Given the description of an element on the screen output the (x, y) to click on. 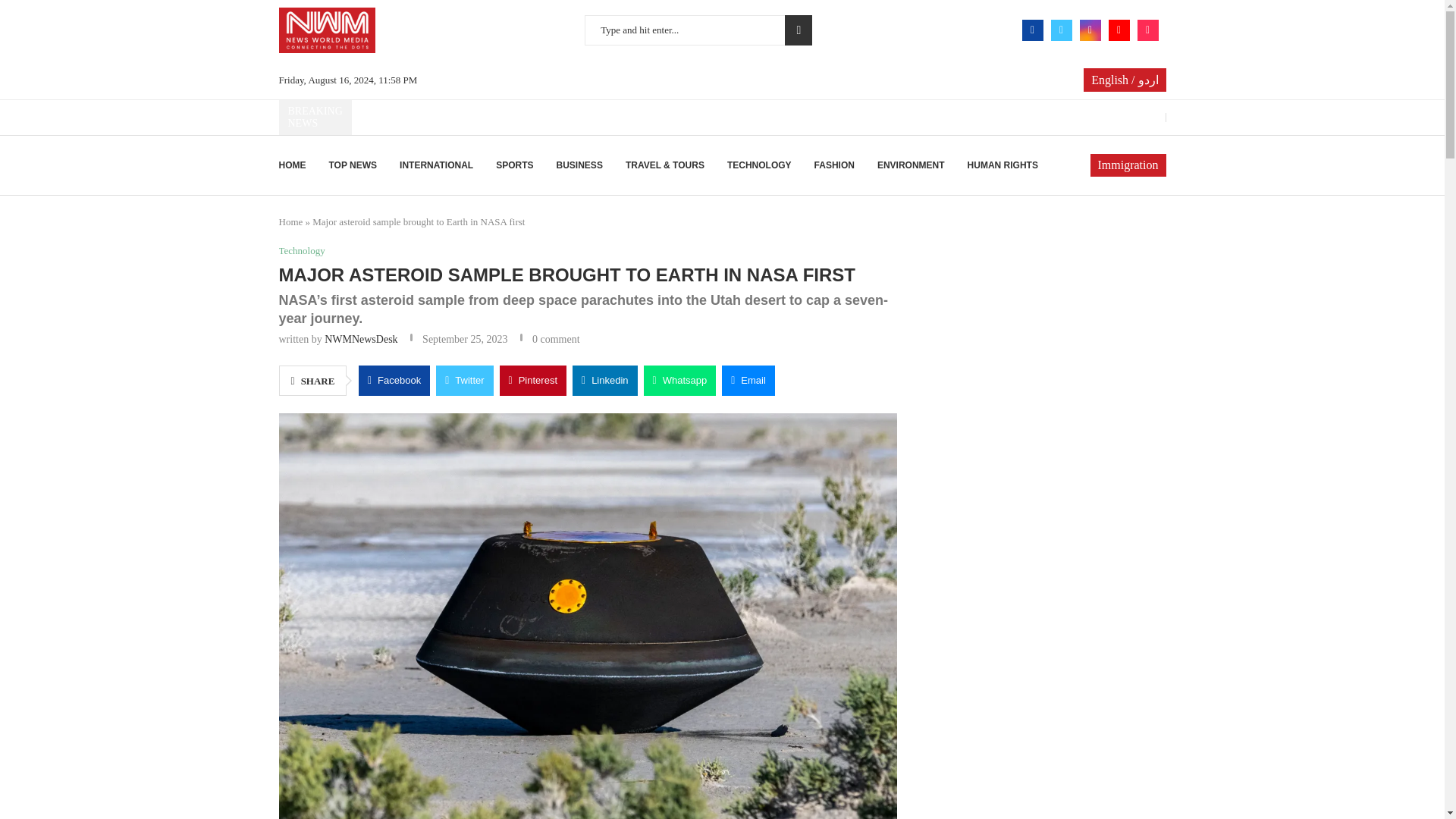
TOP NEWS (353, 165)
HUMAN RIGHTS (1003, 165)
INTERNATIONAL (435, 165)
BREAKING NEWS (315, 117)
SEARCH (798, 30)
Immigration (1128, 164)
FASHION (833, 165)
ENVIRONMENT (910, 165)
TECHNOLOGY (759, 165)
